Given the description of an element on the screen output the (x, y) to click on. 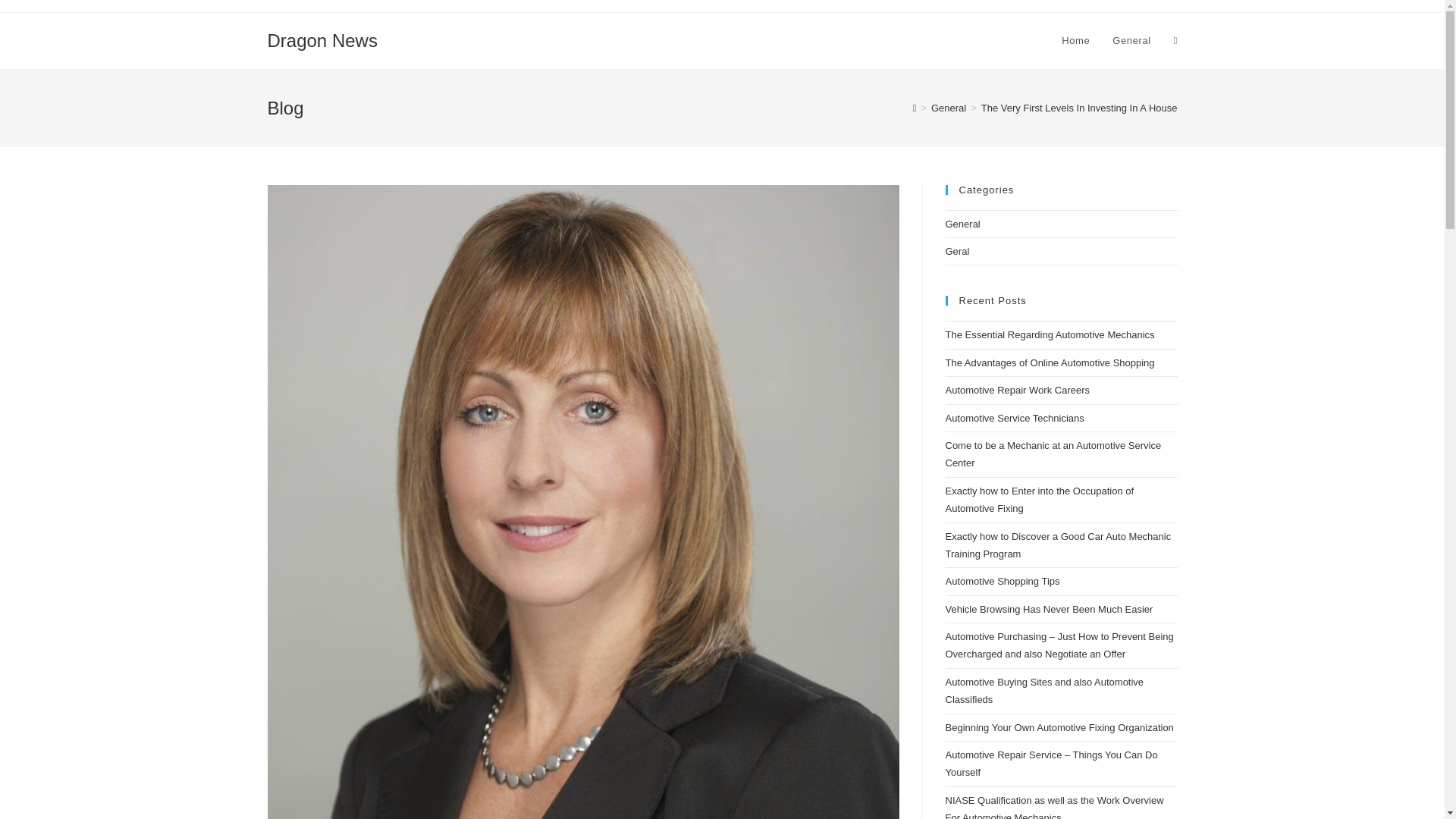
The Essential Regarding Automotive Mechanics (1049, 334)
Automotive Service Technicians (1013, 418)
The Very First Levels In Investing In A House (1079, 107)
Automotive Repair Work Careers (1016, 389)
General (948, 107)
Come to be a Mechanic at an Automotive Service Center (1052, 453)
Geral (956, 251)
General (961, 224)
Home (1074, 40)
The Advantages of Online Automotive Shopping (1049, 362)
Dragon News (321, 40)
General (1130, 40)
